Given the description of an element on the screen output the (x, y) to click on. 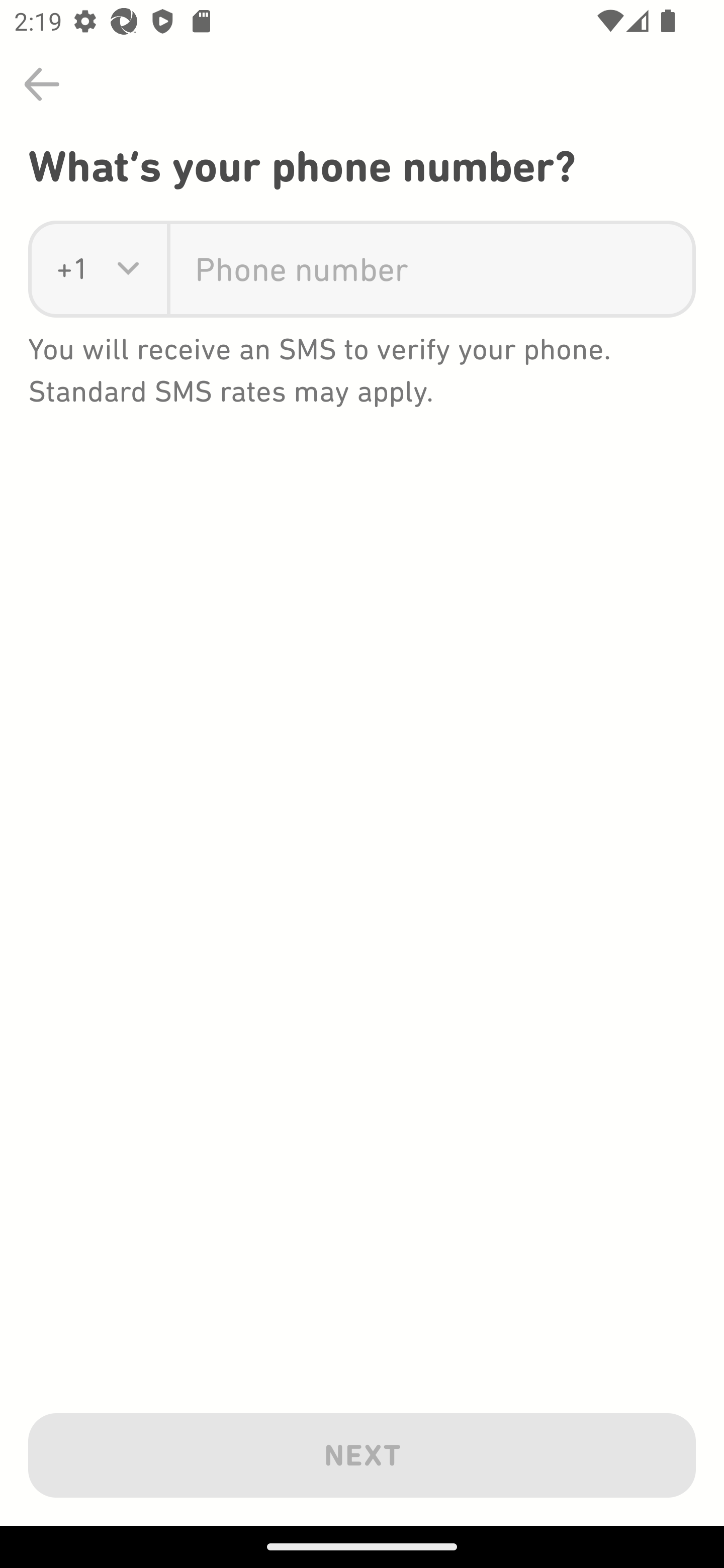
Back (41, 84)
+1 (72, 269)
Phone number (431, 269)
NEXT (361, 1451)
